Given the description of an element on the screen output the (x, y) to click on. 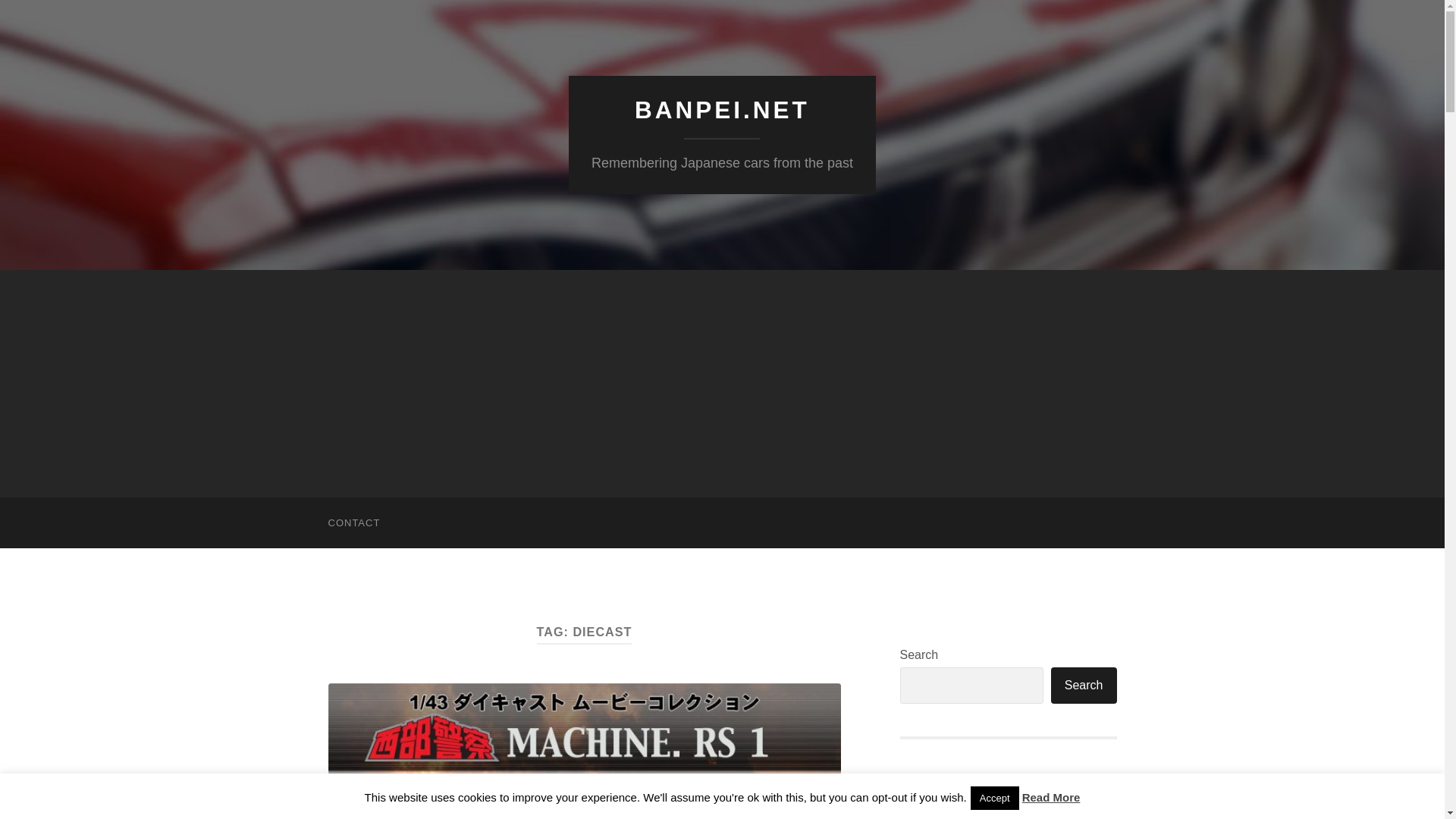
Search (1083, 685)
CONTACT (353, 522)
BANPEI.NET (721, 109)
